Given the description of an element on the screen output the (x, y) to click on. 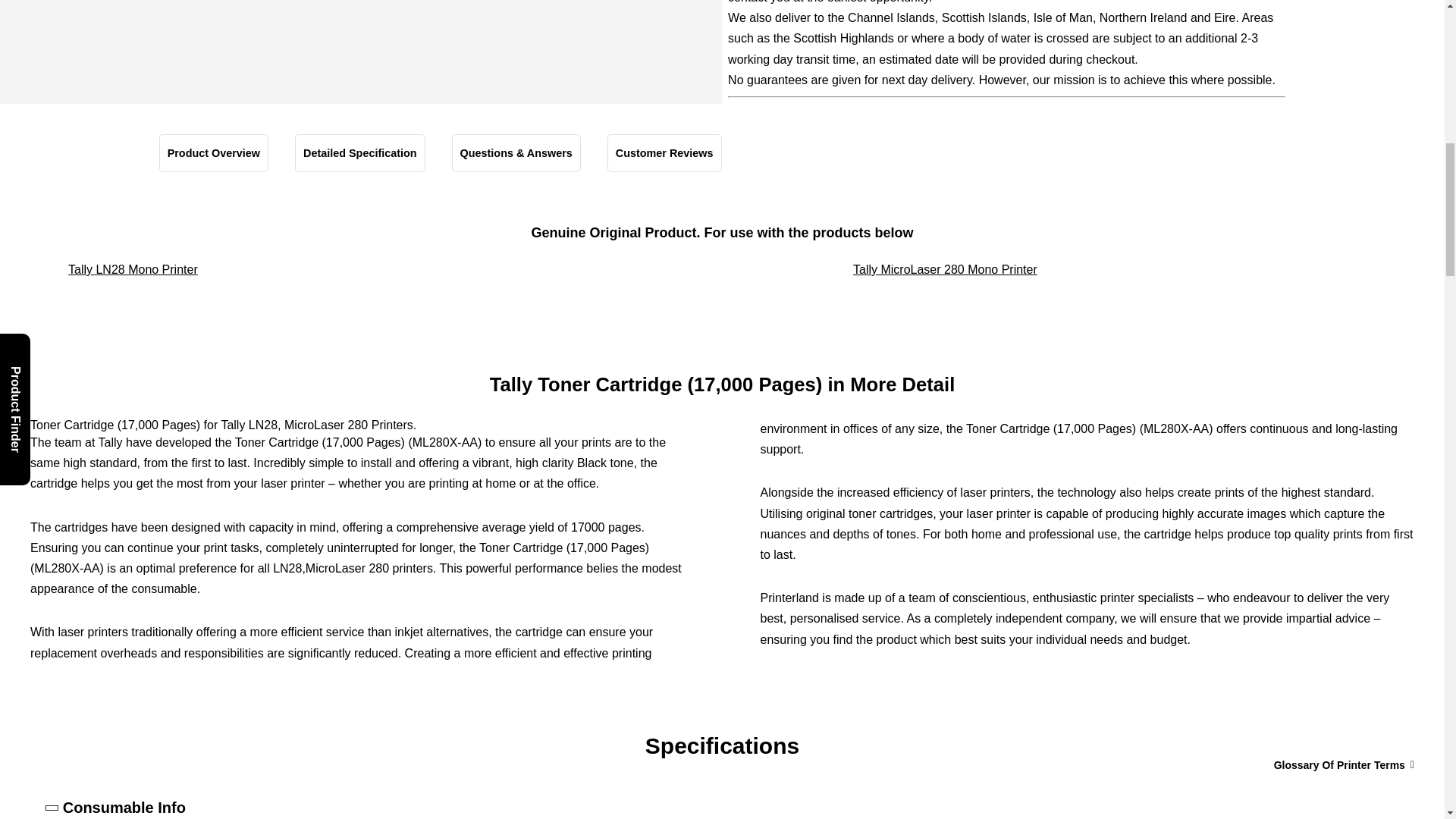
Product Overview (212, 152)
Special Offers (1006, 48)
Customer Reviews (664, 152)
Detailed Specification (360, 152)
